Given the description of an element on the screen output the (x, y) to click on. 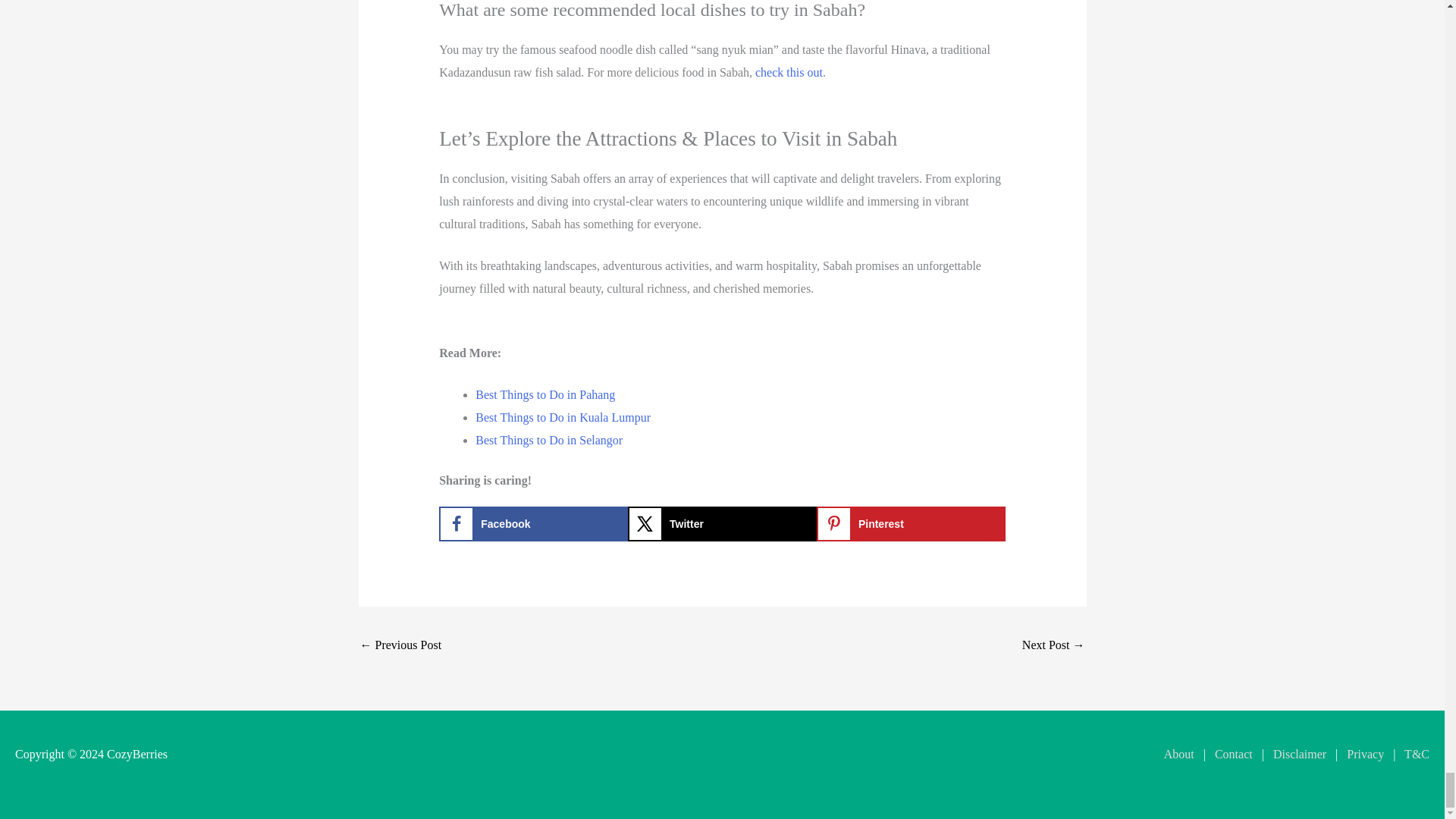
15 Attractions in Pahang: Kuantan, Bentong, Brinchang etc. (400, 646)
Share on X (721, 523)
Share on Facebook (533, 523)
Save to Pinterest (911, 523)
9 Things to Do In Kuching Sarawak: Best Places to Visit (1053, 646)
